Given the description of an element on the screen output the (x, y) to click on. 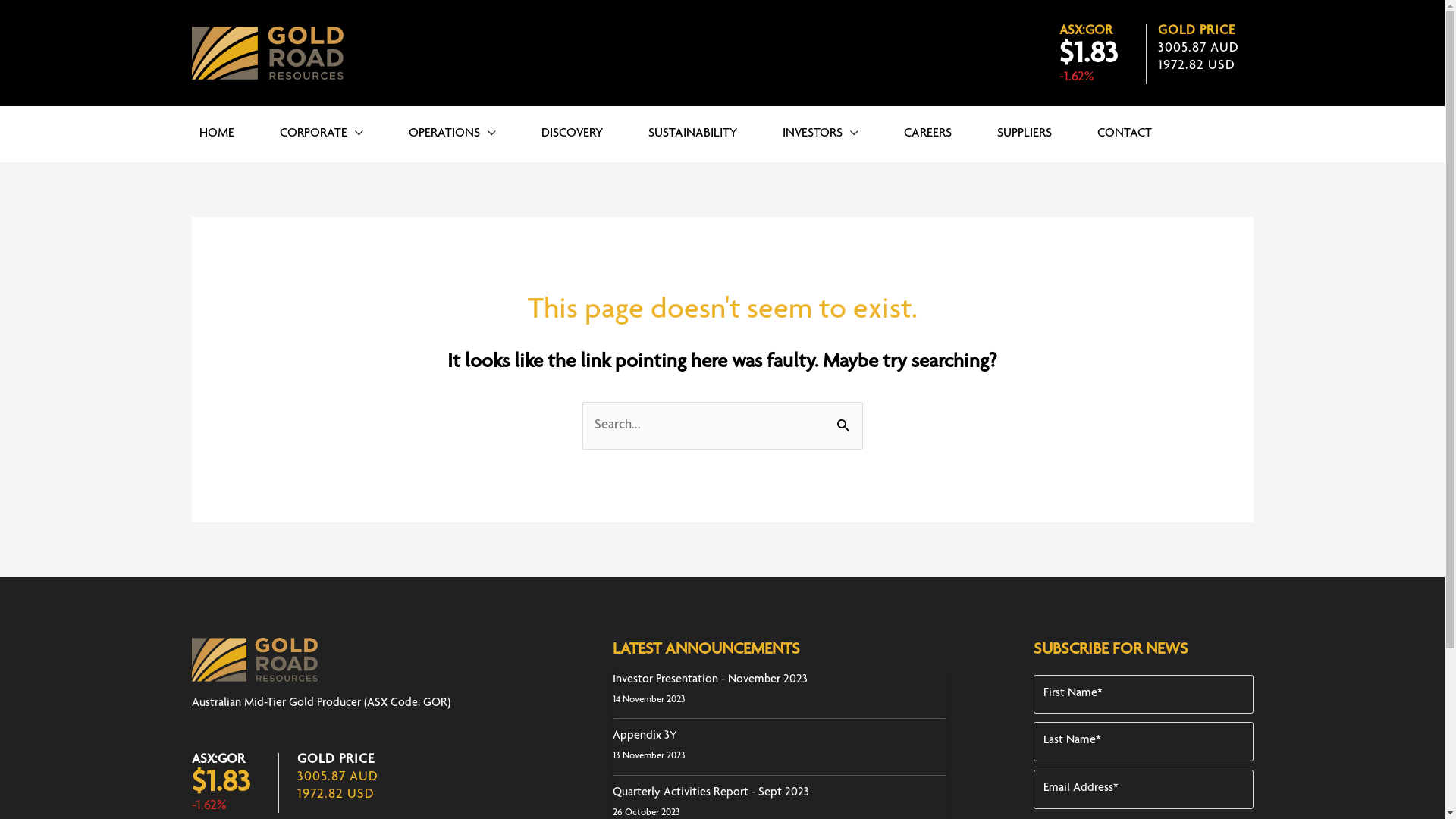
CAREERS Element type: text (927, 134)
CONTACT Element type: text (1123, 134)
SUSTAINABILITY Element type: text (691, 134)
INVESTORS Element type: text (820, 134)
DISCOVERY Element type: text (571, 134)
Investor Presentation - November 2023
14 November 2023 Element type: text (779, 696)
HOME Element type: text (215, 134)
Appendix 3Y
13 November 2023 Element type: text (779, 746)
OPERATIONS Element type: text (451, 134)
Search Element type: text (845, 423)
CORPORATE Element type: text (320, 134)
SUPPLIERS Element type: text (1023, 134)
